Given the description of an element on the screen output the (x, y) to click on. 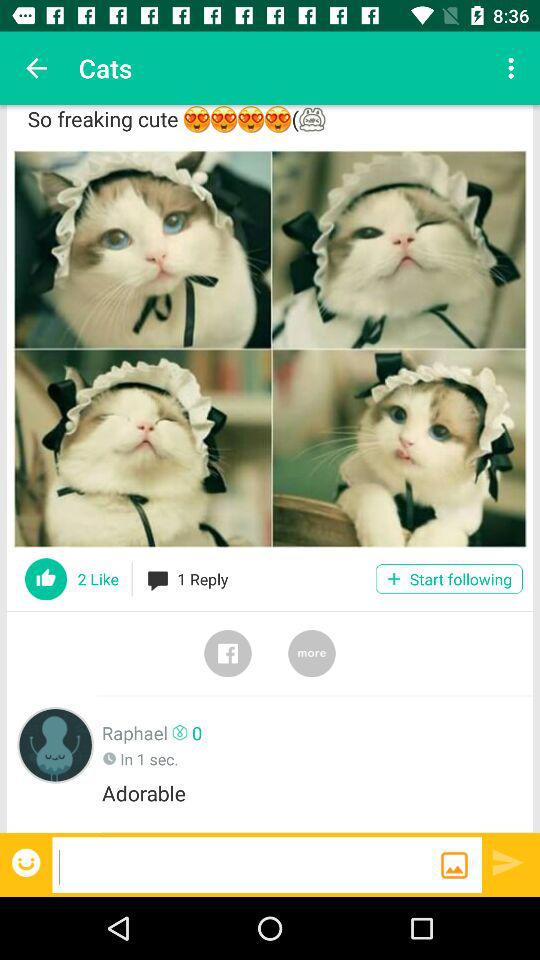
more (312, 653)
